Given the description of an element on the screen output the (x, y) to click on. 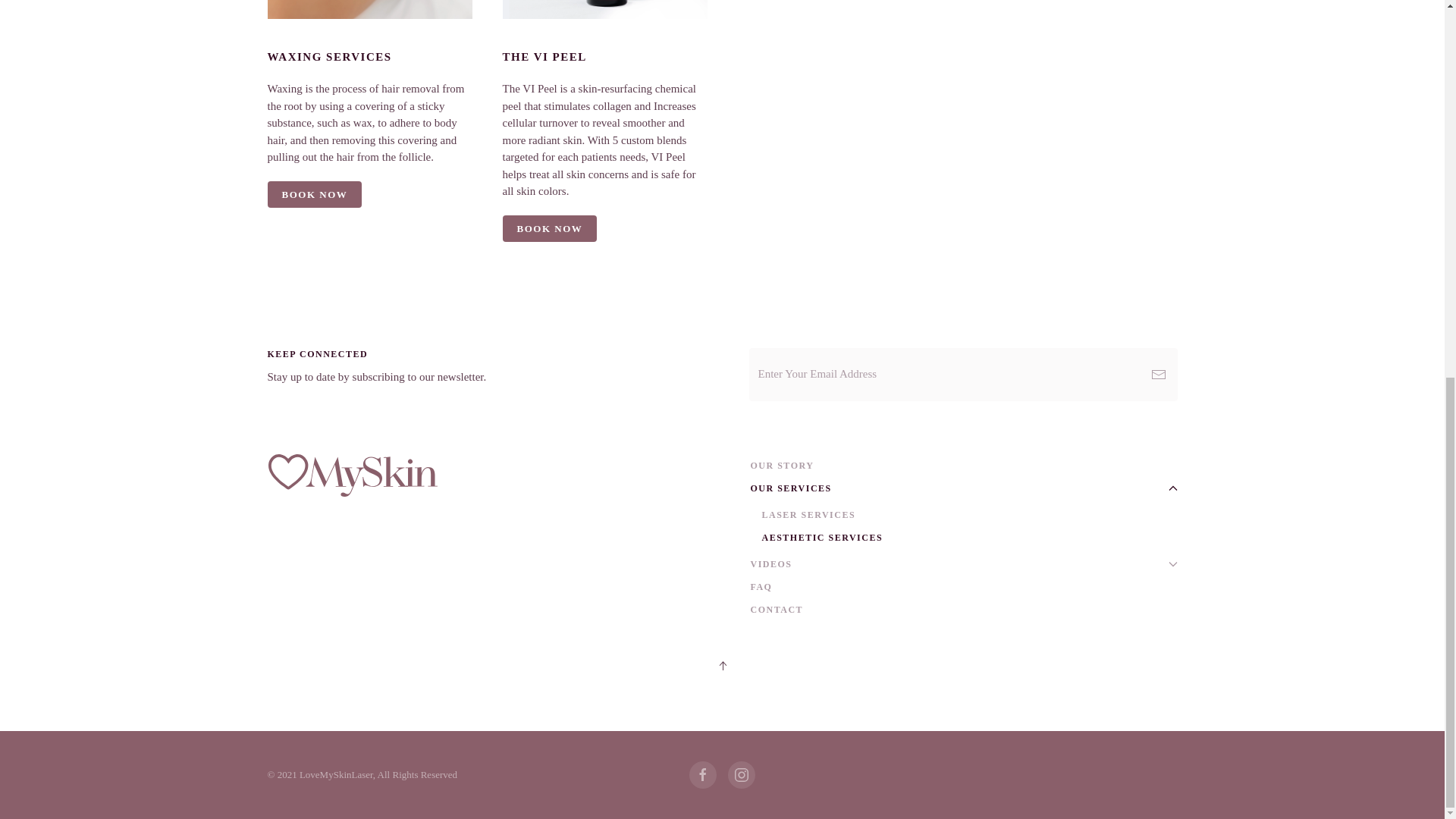
AESTHETIC SERVICES (968, 537)
Book your service (549, 228)
OUR SERVICES (964, 487)
FAQ (964, 586)
BOOK NOW (313, 194)
VIDEOS (964, 563)
OUR STORY (964, 465)
LASER SERVICES (968, 514)
BOOK NOW (549, 228)
CONTACT (964, 609)
